Given the description of an element on the screen output the (x, y) to click on. 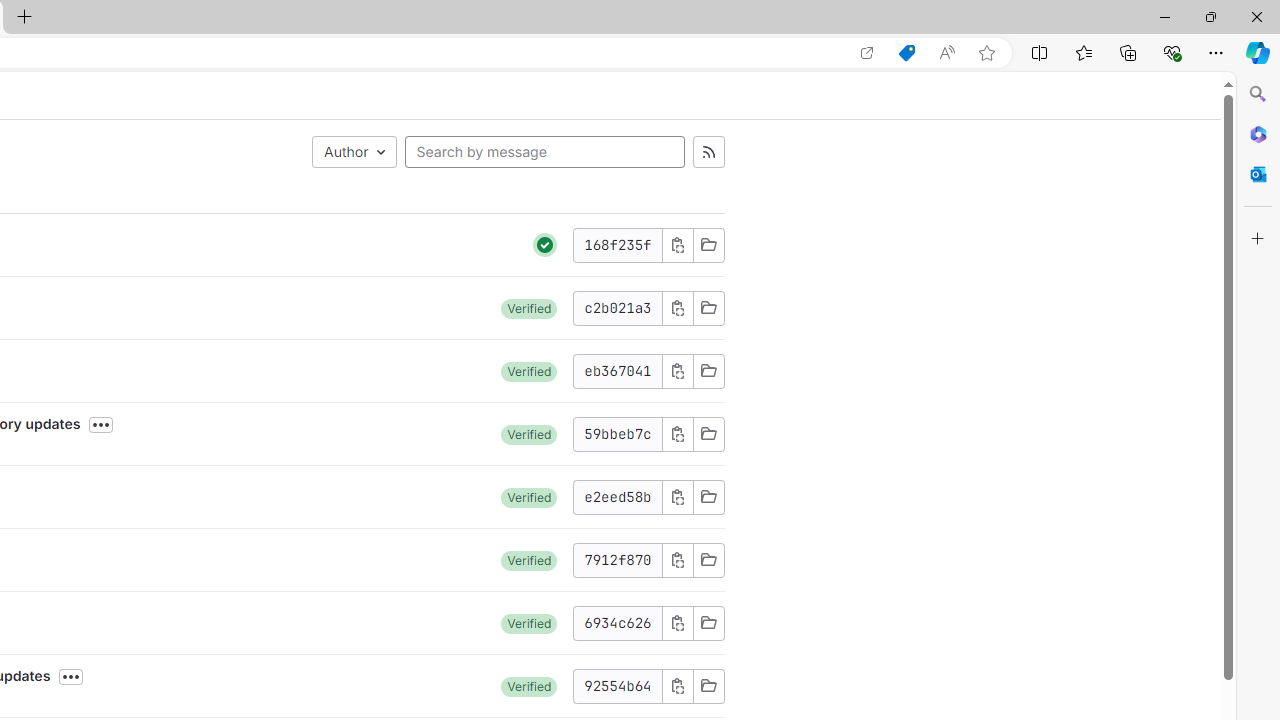
Pipeline: passed (545, 245)
Class: s24 gl-icon (545, 244)
Class: s16 (708, 686)
Browse Files (708, 686)
Toggle commit description (71, 677)
